Given the description of an element on the screen output the (x, y) to click on. 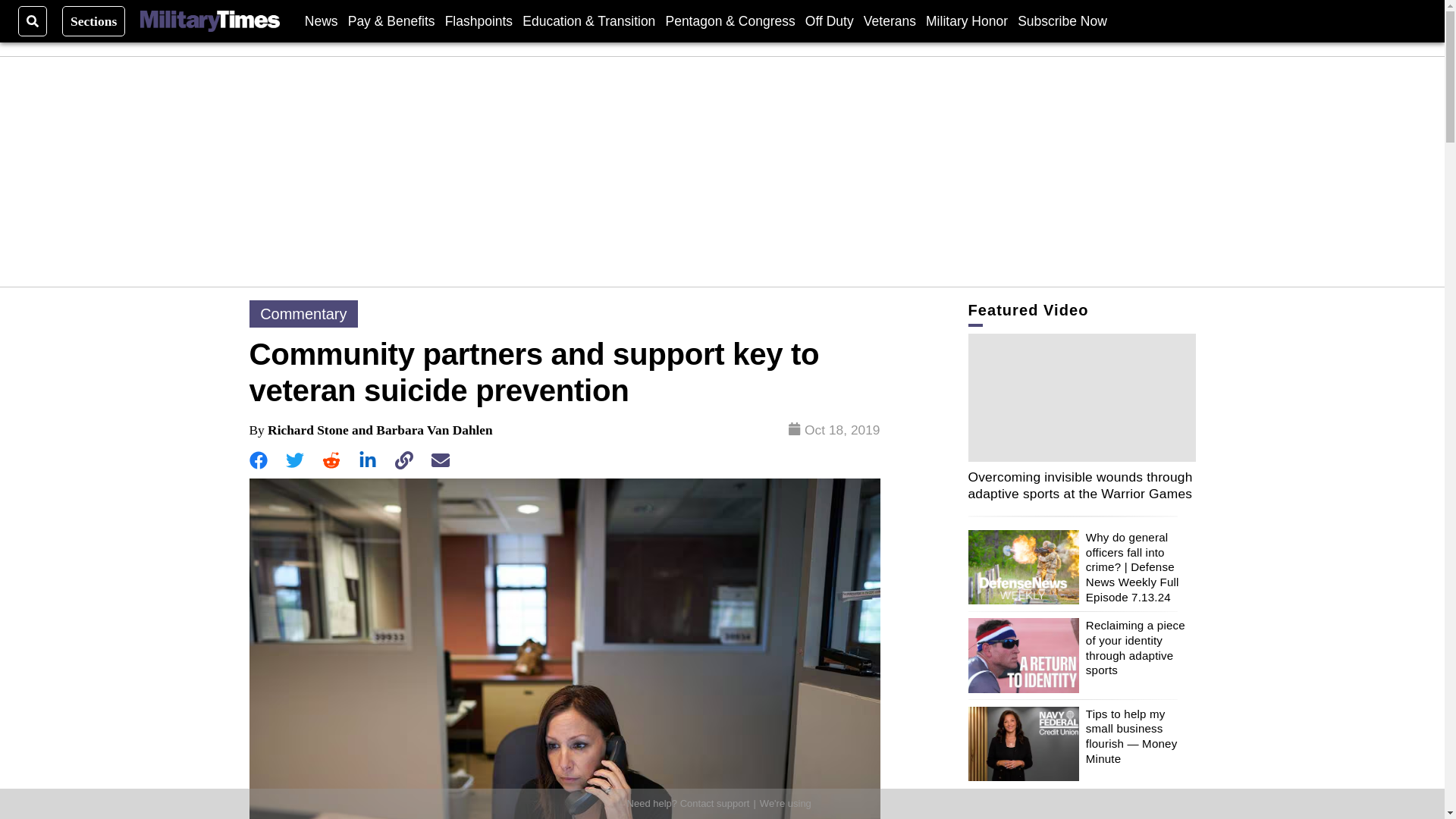
Military Honor (966, 20)
News (320, 20)
Military Times Logo (209, 20)
Sections (93, 20)
Veterans (889, 20)
Flashpoints (479, 20)
Off Duty (829, 20)
